Given the description of an element on the screen output the (x, y) to click on. 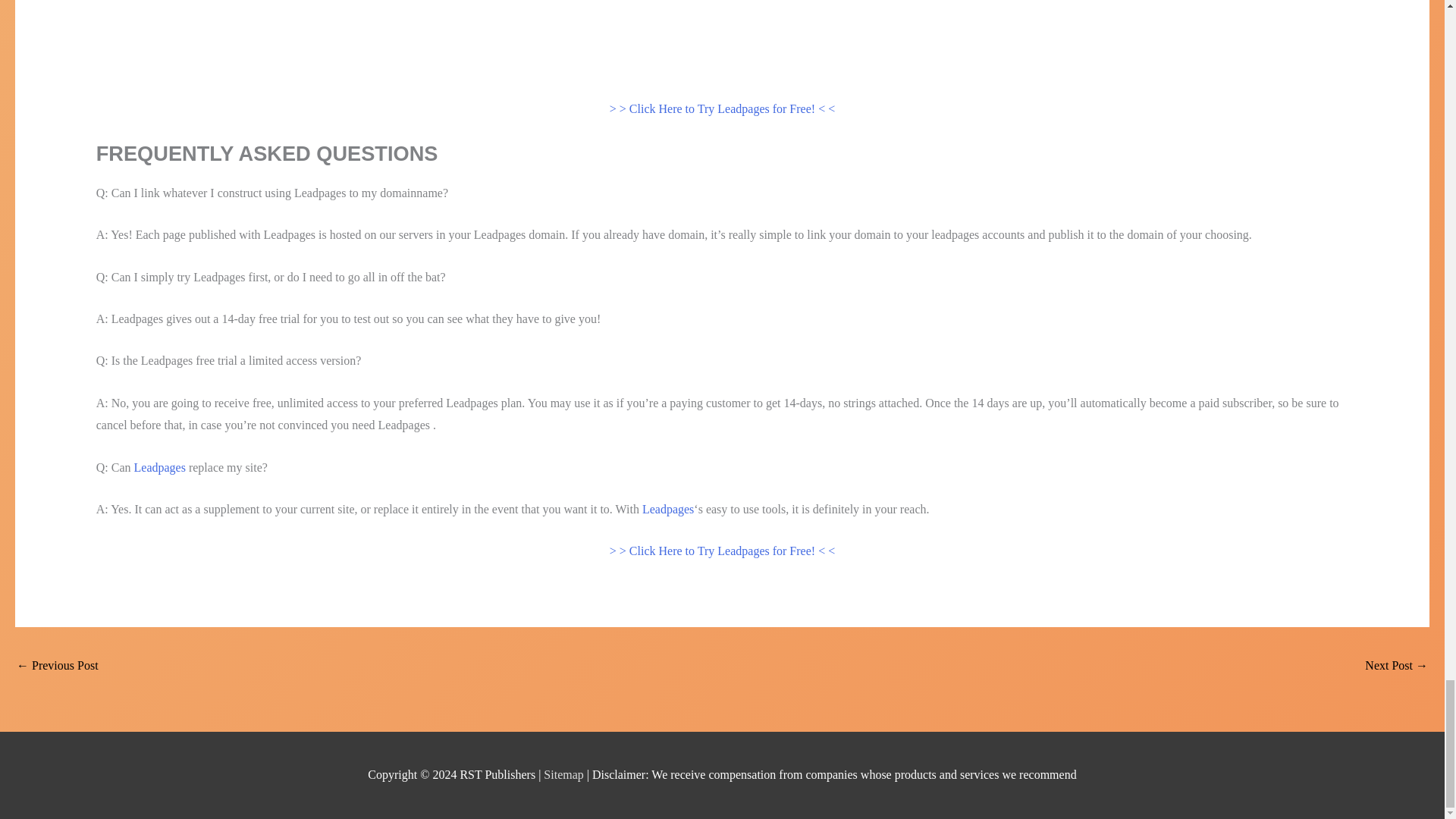
Leadpages (668, 508)
Sitemap (564, 774)
Leadpages V. Optimize Press (57, 666)
Leadpages (158, 467)
Integration Leadpages Popup in Squarespace (1396, 666)
